Given the description of an element on the screen output the (x, y) to click on. 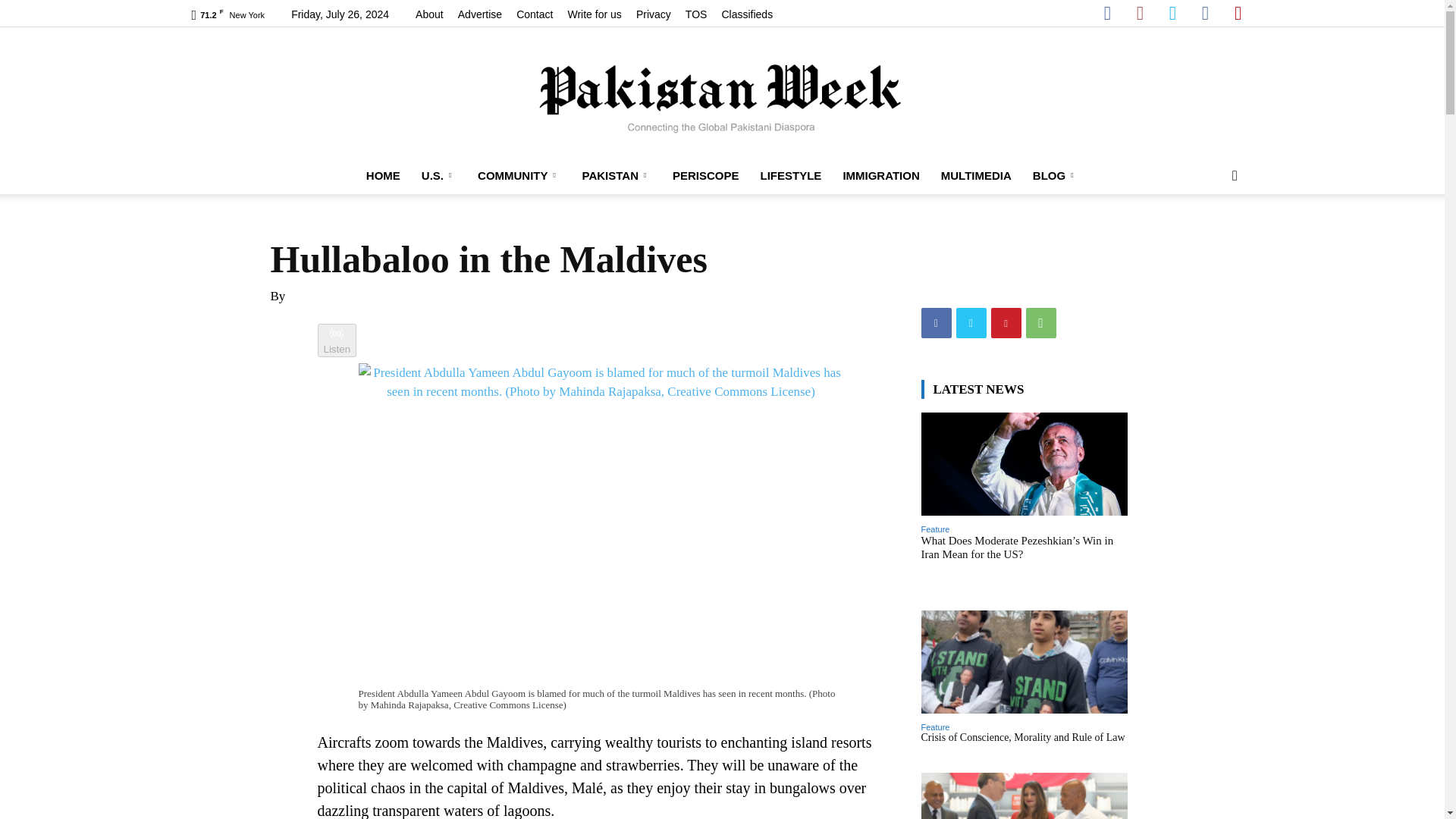
TOS (696, 14)
Advertise (480, 14)
Write for us (594, 14)
Classifieds (746, 14)
HOME (382, 176)
Facebook (1107, 15)
Contact (534, 14)
VKontakte (1204, 15)
Instagram (1139, 15)
About (429, 14)
Privacy (653, 14)
Youtube (1237, 15)
Twitter (1172, 15)
U.S. (438, 176)
